Given the description of an element on the screen output the (x, y) to click on. 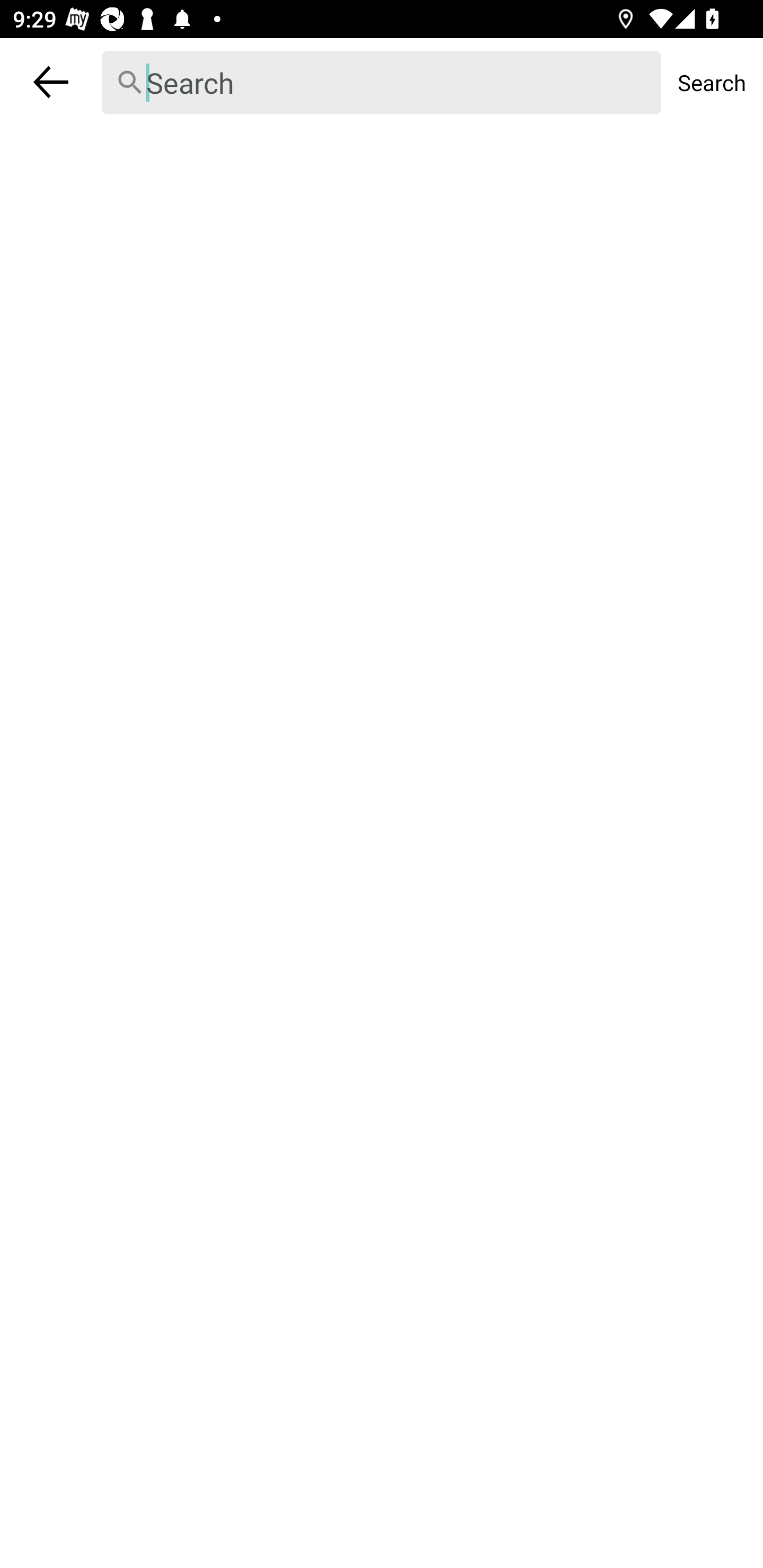
close (50, 81)
search Search (381, 82)
Search (381, 82)
Search (711, 82)
